Given the description of an element on the screen output the (x, y) to click on. 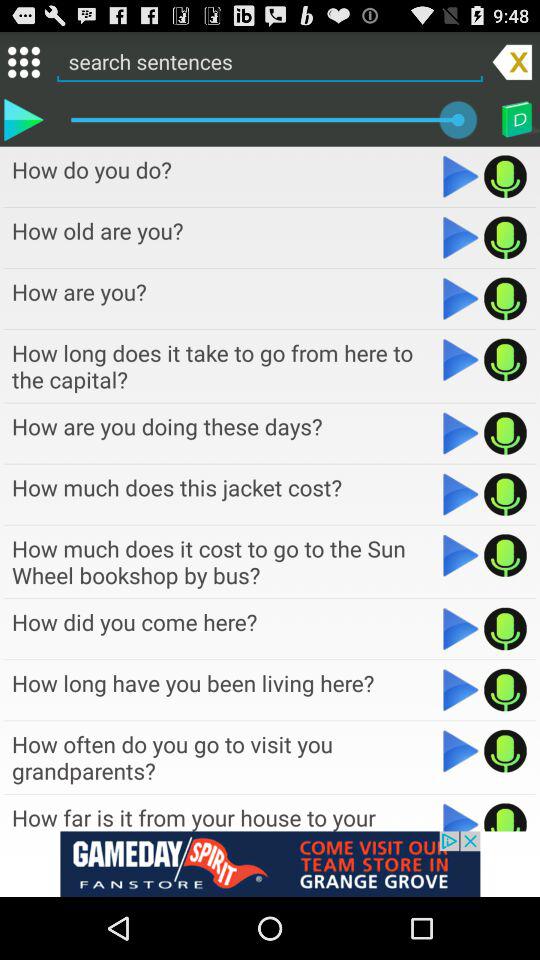
go to play (460, 816)
